Given the description of an element on the screen output the (x, y) to click on. 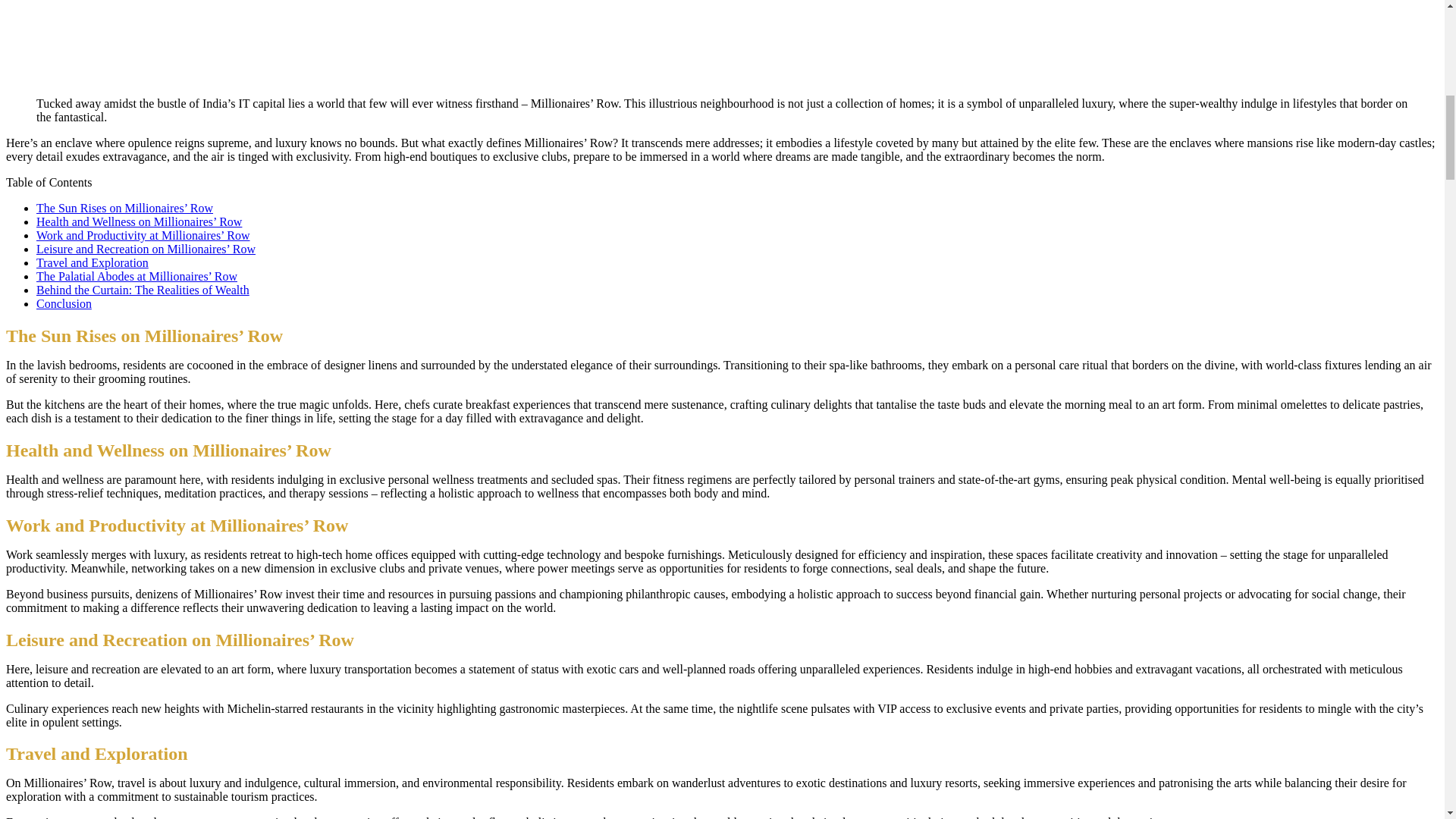
Travel and Exploration (92, 262)
Behind the Curtain: The Realities of Wealth (142, 289)
Behind the Curtain: The Realities of Wealth (142, 289)
Conclusion (63, 303)
Conclusion (63, 303)
Travel and Exploration (92, 262)
